Given the description of an element on the screen output the (x, y) to click on. 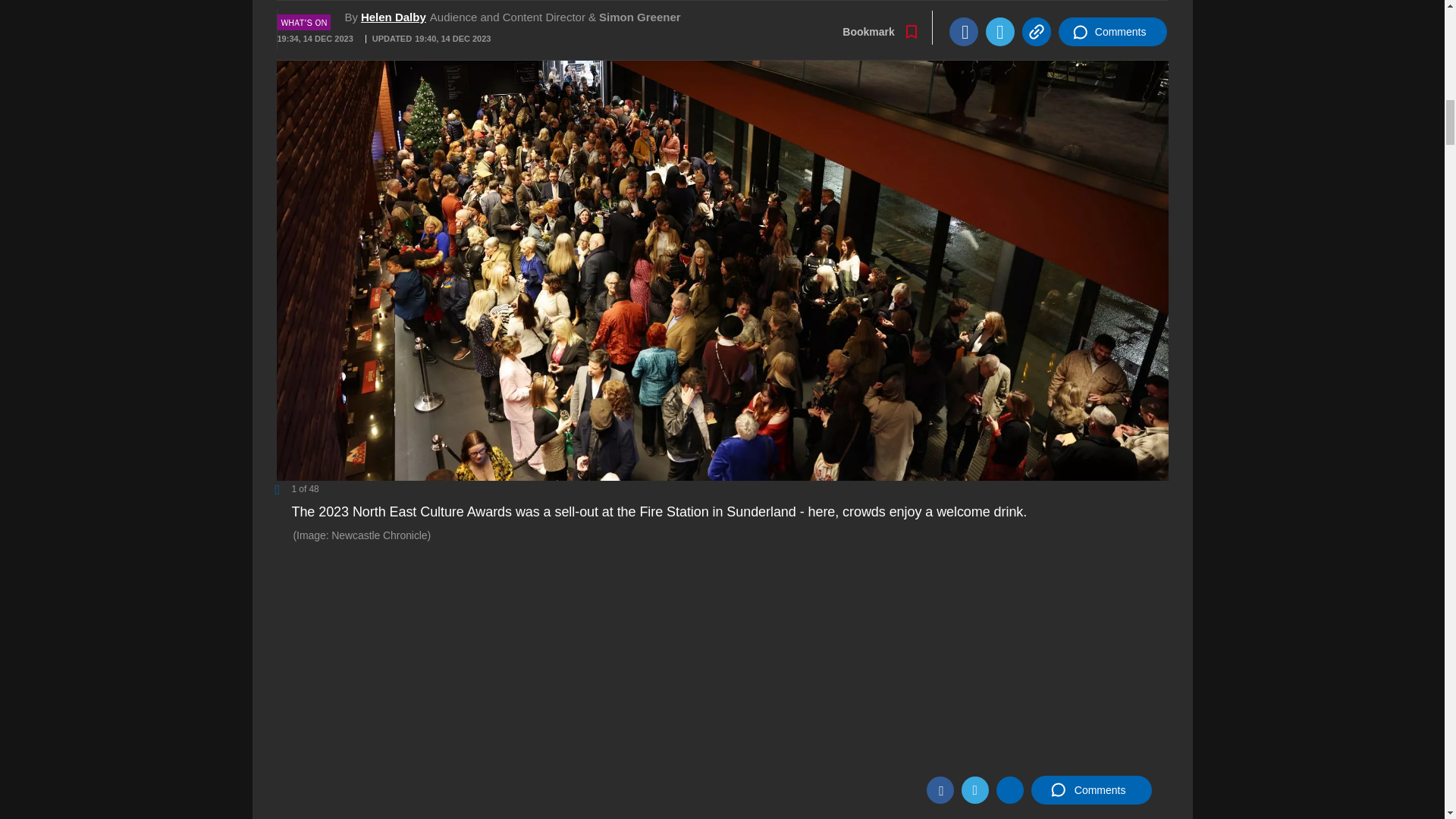
Twitter (974, 789)
Comments (1090, 789)
Facebook (939, 789)
